Given the description of an element on the screen output the (x, y) to click on. 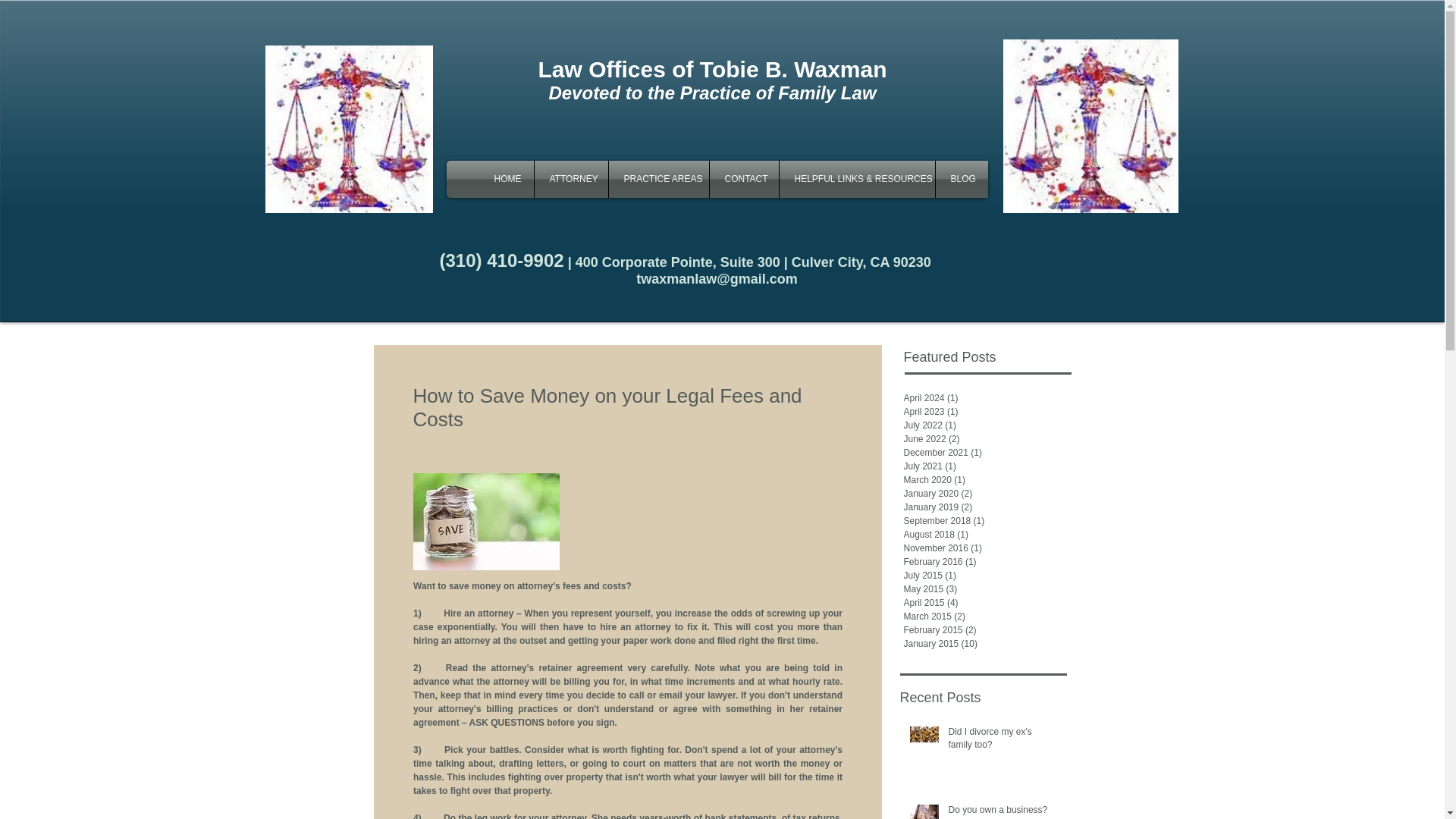
CONTACT (744, 179)
Do you own a business? Want to protect it? (1002, 811)
Did I divorce my ex's family too? (1002, 741)
HOME (506, 179)
PRACTICE AREAS (657, 179)
ATTORNEY (570, 179)
BLOG (962, 179)
